Given the description of an element on the screen output the (x, y) to click on. 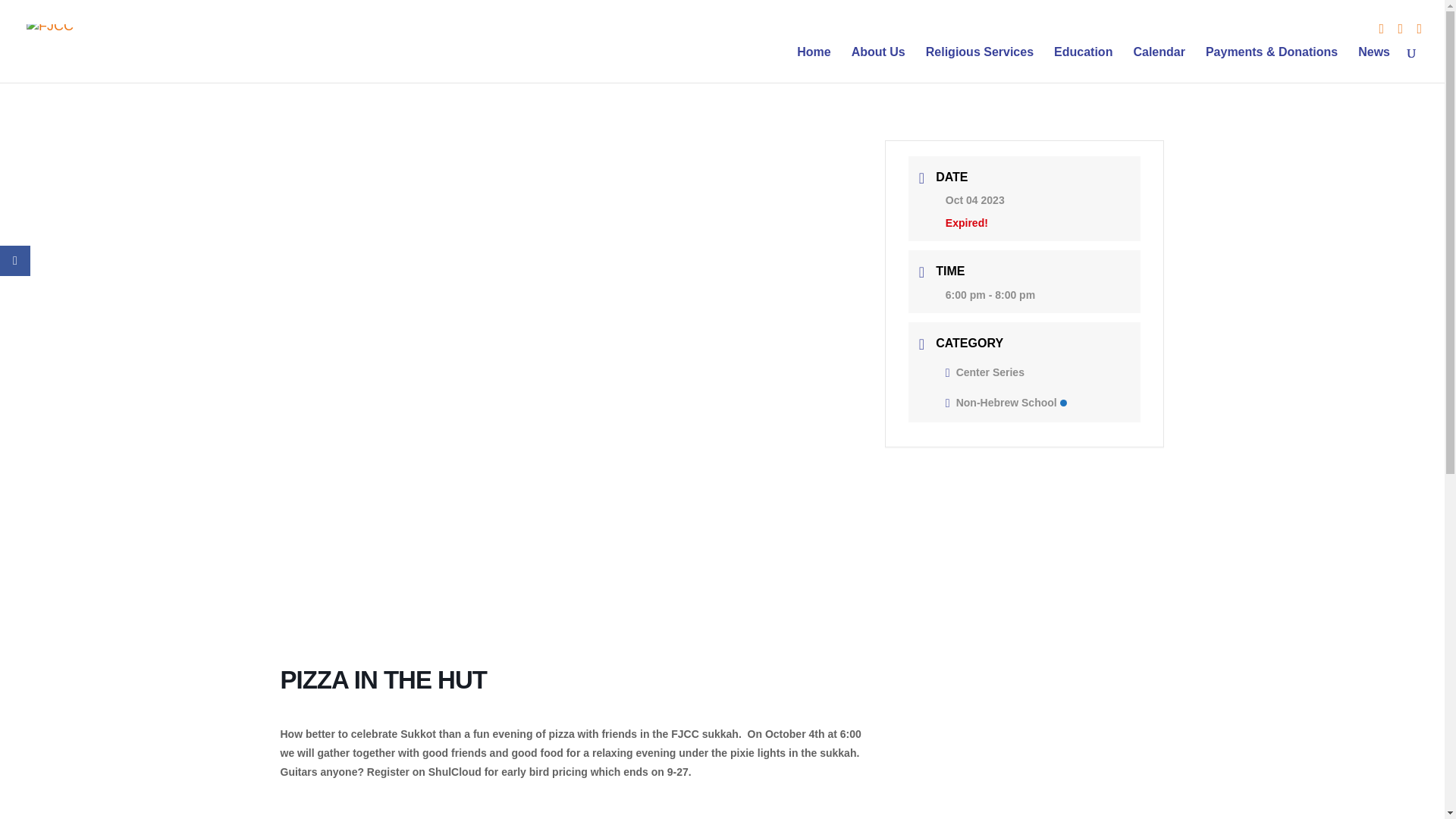
Center Series (984, 372)
Home (812, 64)
About Us (878, 64)
Religious Services (979, 64)
Education (1083, 64)
Non-Hebrew School  (1005, 402)
News (1374, 64)
Calendar (1158, 64)
